Given the description of an element on the screen output the (x, y) to click on. 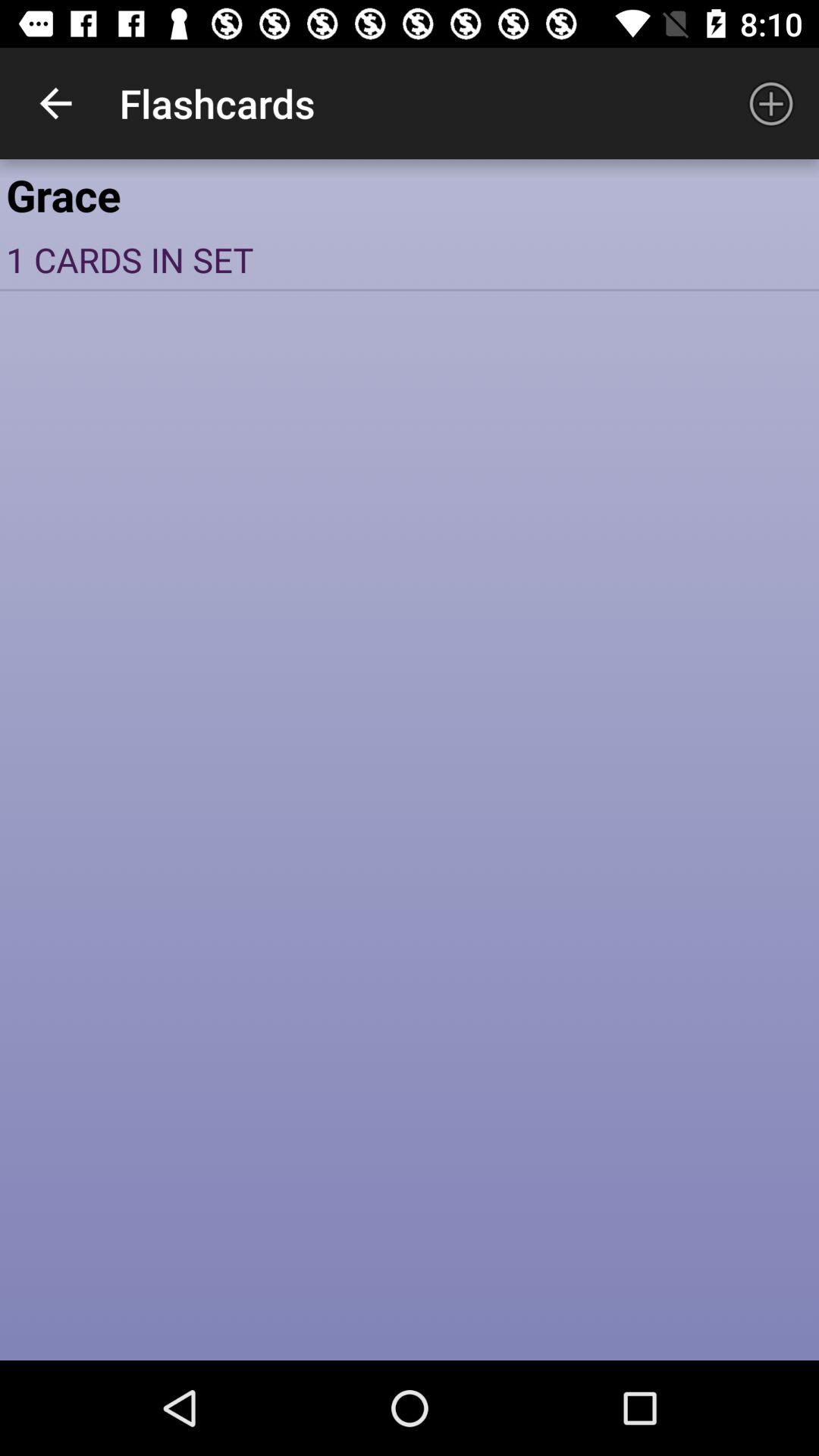
open icon above the grace (55, 103)
